Given the description of an element on the screen output the (x, y) to click on. 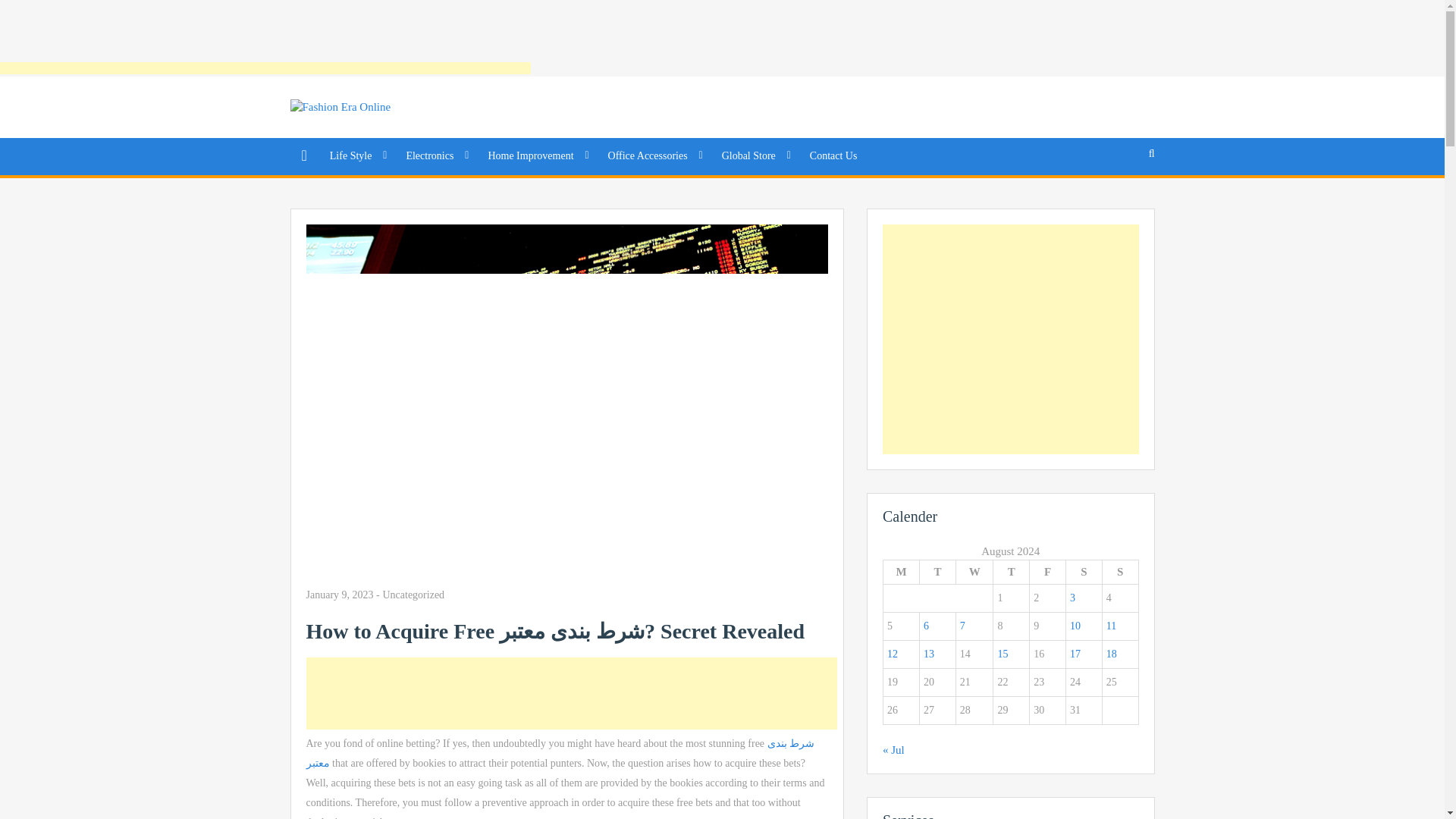
Life Style (356, 156)
Wednesday (973, 571)
Global Store (753, 156)
Home Improvement (535, 156)
Saturday (1083, 571)
Tuesday (938, 571)
Thursday (1010, 571)
Contact Us (833, 156)
Monday (900, 571)
Friday (1047, 571)
